Given the description of an element on the screen output the (x, y) to click on. 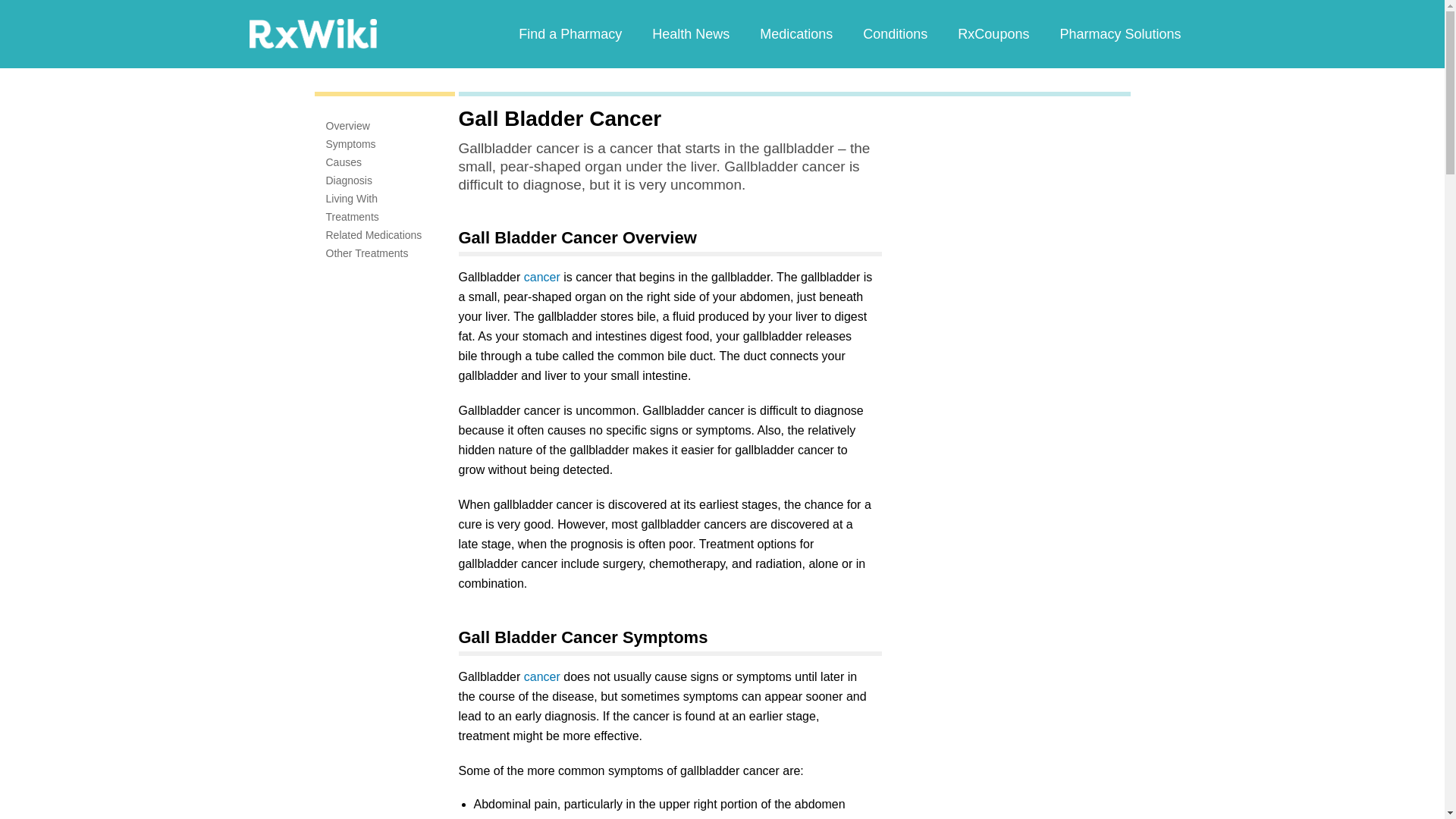
Overview (347, 125)
Medications (795, 33)
cancer (542, 277)
Health News (690, 33)
Related Medications (374, 234)
Causes (343, 162)
Diagnosis (349, 180)
Treatments (352, 216)
Pharmacy Solutions (1119, 33)
cancer (542, 676)
Conditions (894, 33)
Symptoms (350, 143)
Other Treatments (367, 253)
Living With (351, 198)
RxCoupons (992, 33)
